Given the description of an element on the screen output the (x, y) to click on. 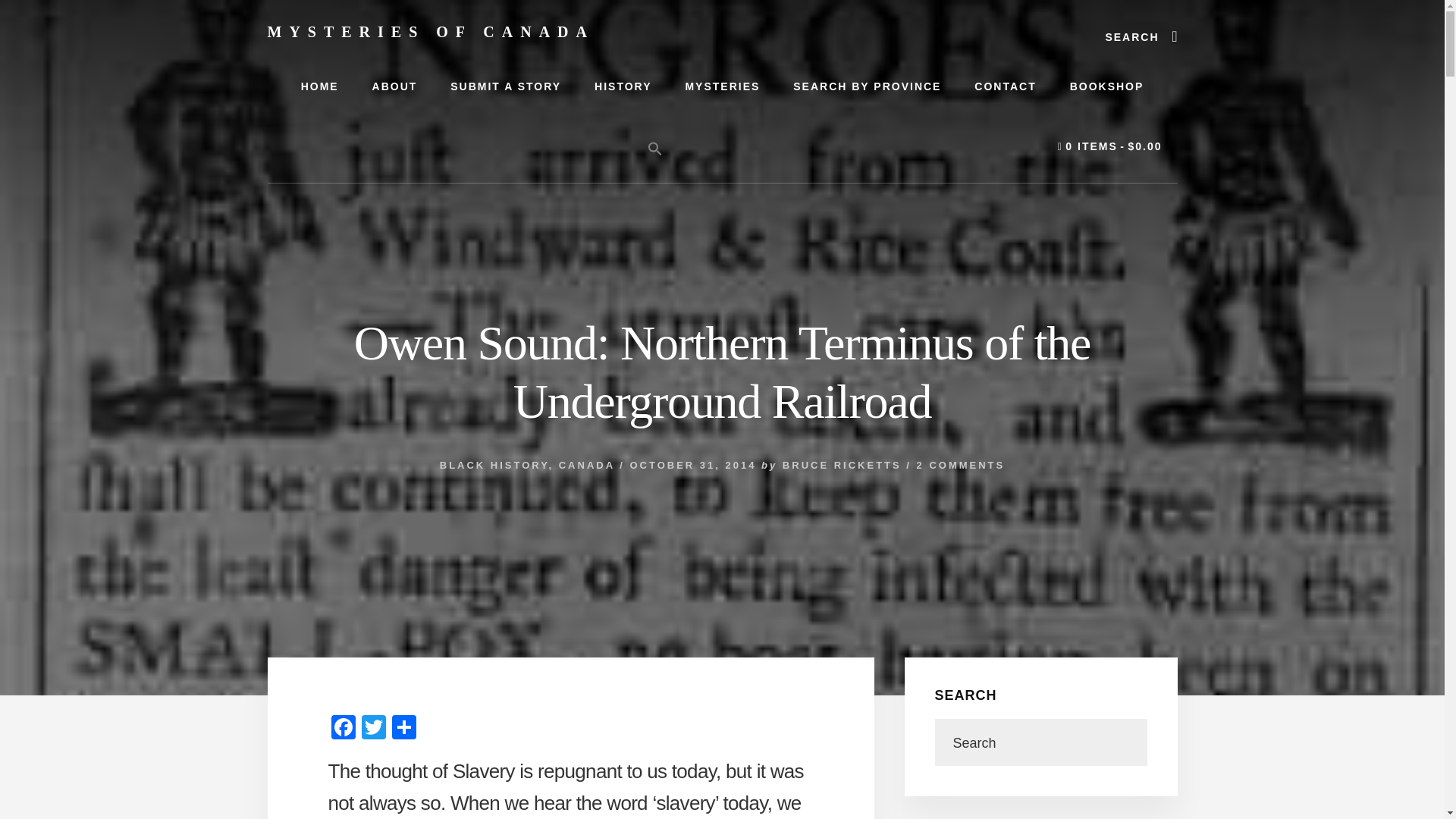
BOOKSHOP (1106, 86)
CONTACT (1005, 86)
MYSTERIES (721, 86)
ABOUT (394, 86)
Twitter (373, 728)
SEARCH BY PROVINCE (866, 86)
SUBMIT A STORY (505, 86)
HISTORY (622, 86)
Start shopping (1109, 147)
HOME (319, 86)
MYSTERIES OF CANADA (430, 31)
